Given the description of an element on the screen output the (x, y) to click on. 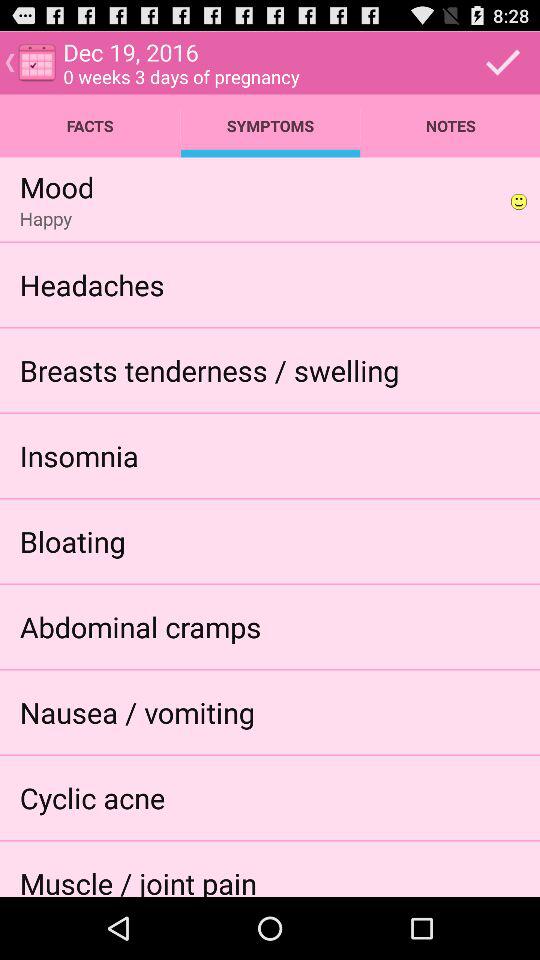
turn on icon above abdominal cramps icon (72, 540)
